Given the description of an element on the screen output the (x, y) to click on. 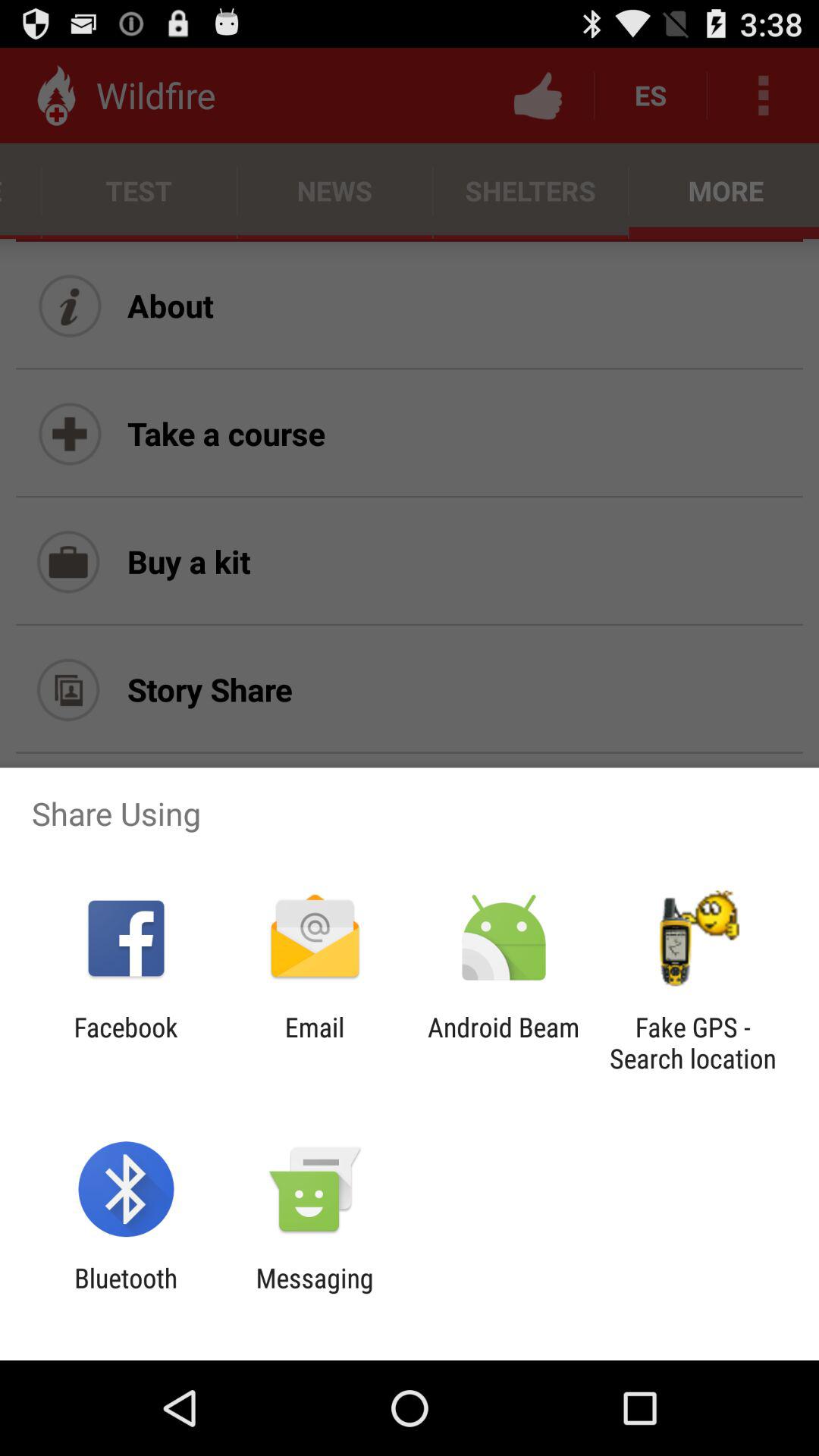
swipe to messaging item (314, 1293)
